Given the description of an element on the screen output the (x, y) to click on. 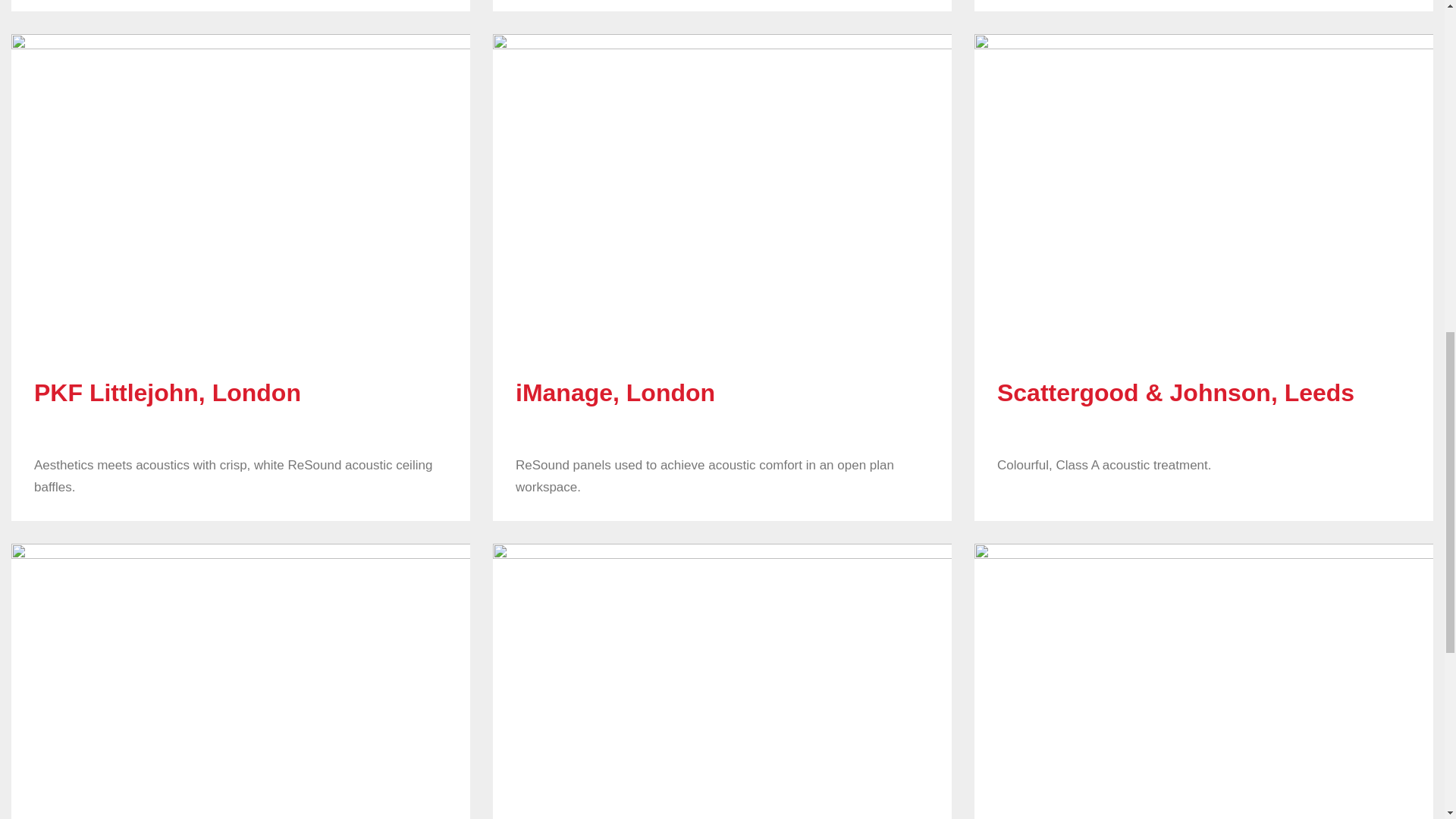
CRU, London (240, 681)
QBE, London (1203, 681)
